Given the description of an element on the screen output the (x, y) to click on. 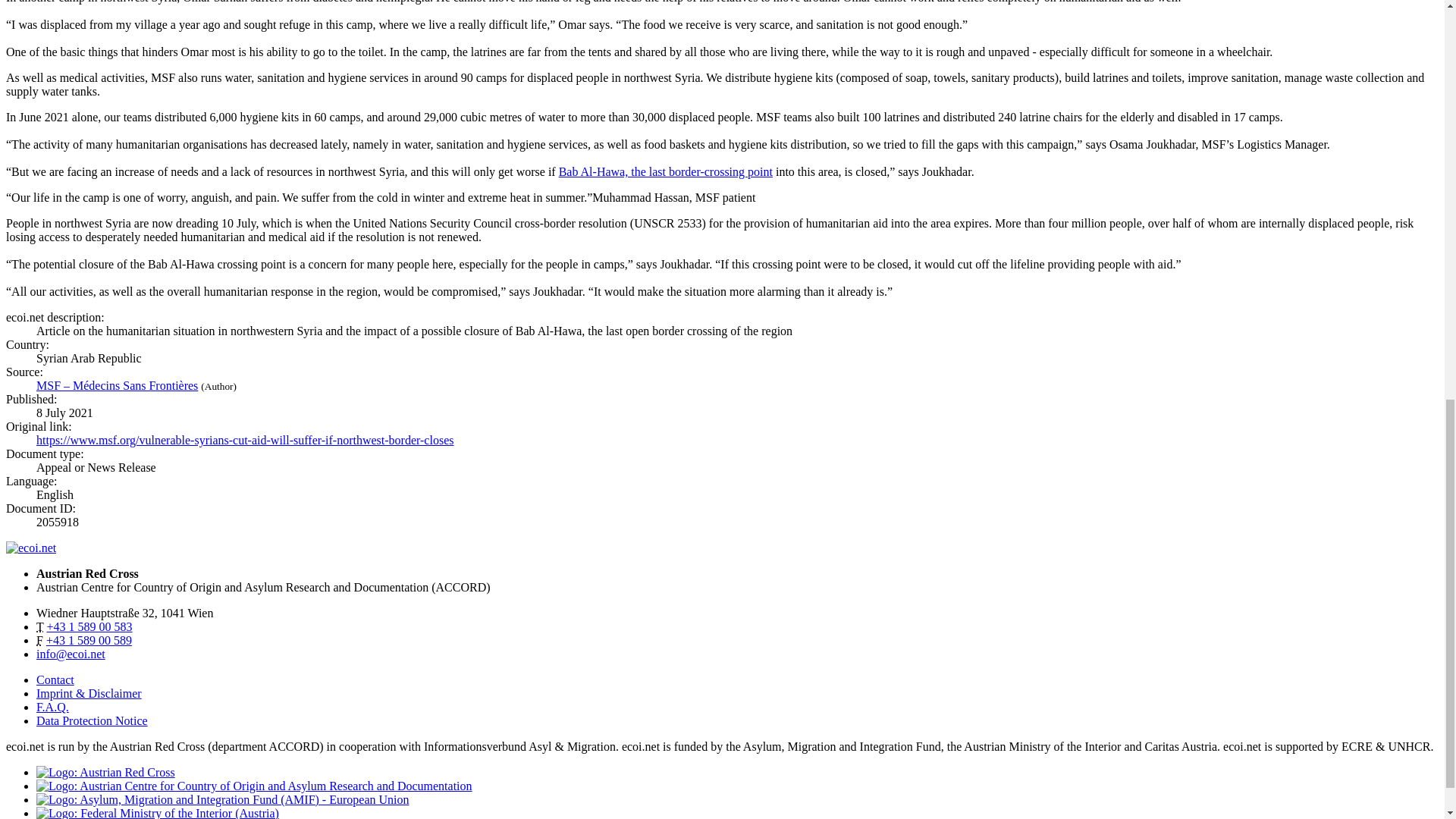
Data Protection Notice (92, 720)
Austrian Red Cross (105, 771)
Bab Al-Hawa, the last border-crossing point (666, 171)
Telefax (89, 640)
F.A.Q. (52, 707)
Telephone (89, 626)
Contact (55, 679)
Read source description (117, 385)
